Given the description of an element on the screen output the (x, y) to click on. 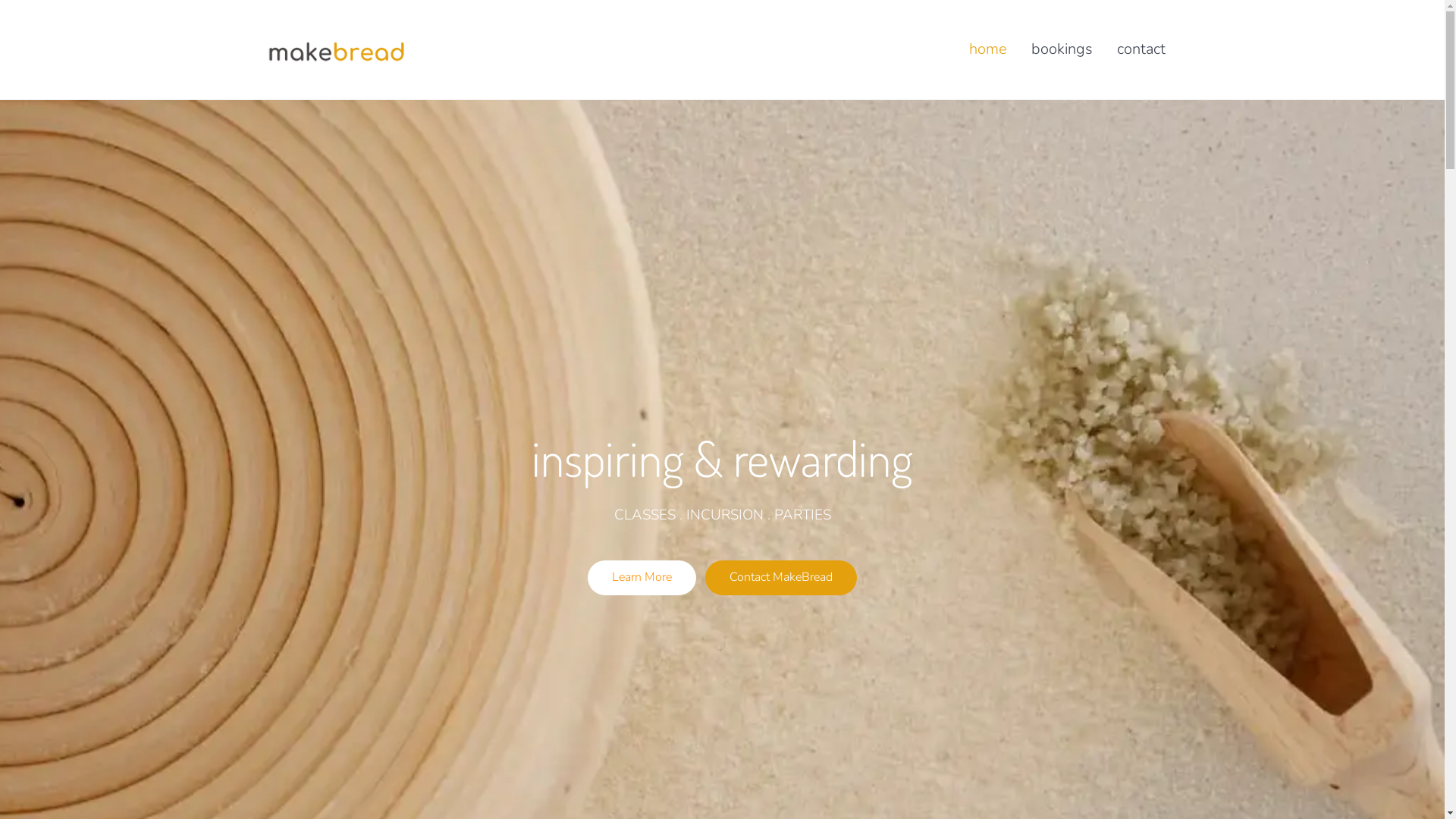
contact Element type: text (1140, 49)
bookings Element type: text (1061, 49)
Skip to main content Element type: text (0, 0)
Contact MakeBread Element type: text (780, 577)
Learn More Element type: text (641, 577)
home Element type: text (988, 49)
